Given the description of an element on the screen output the (x, y) to click on. 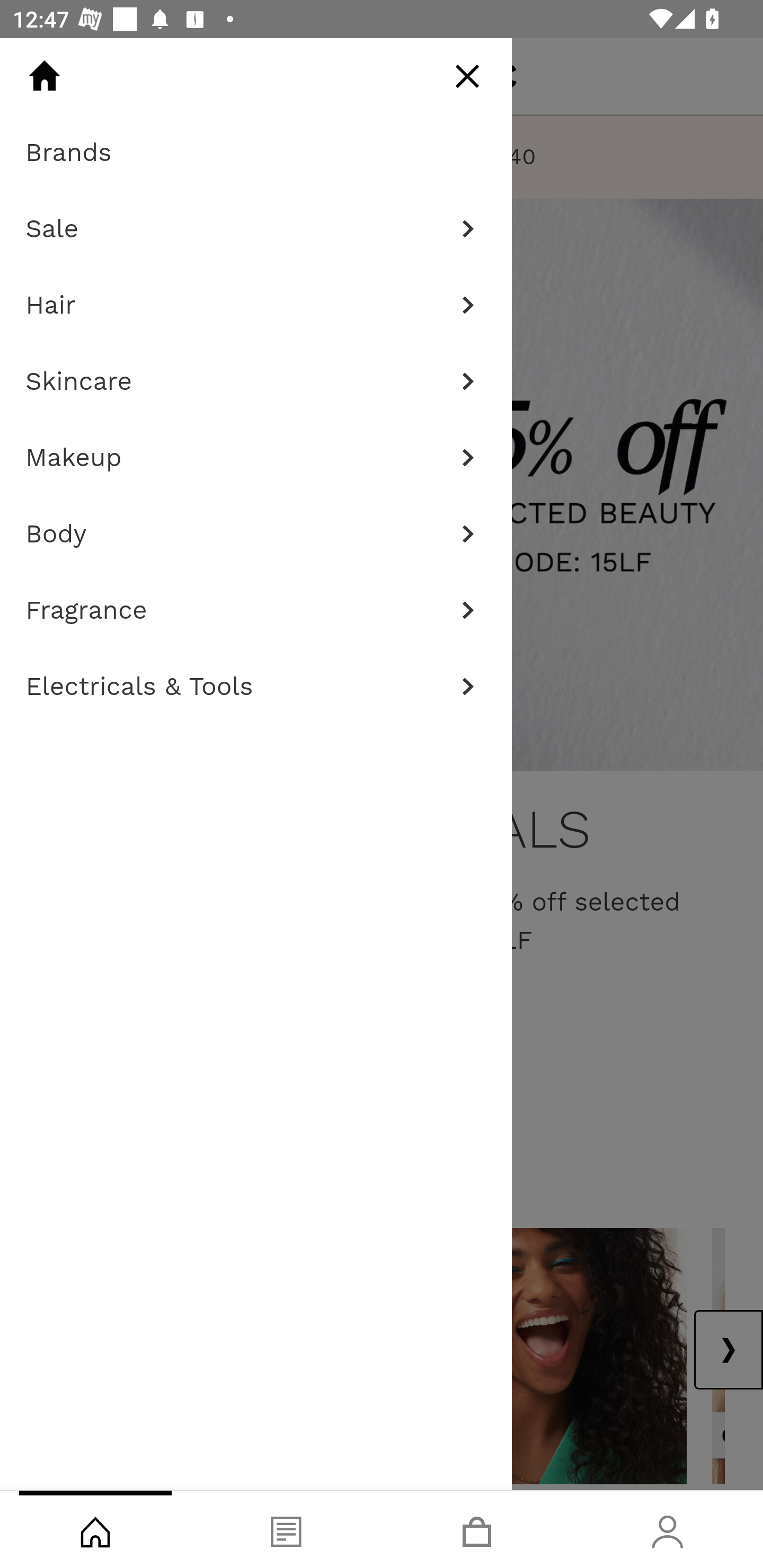
Home (44, 75)
Close Menu (467, 75)
Brands (255, 152)
Sale (255, 228)
Hair (255, 304)
Skincare (255, 381)
Makeup (255, 457)
Body (255, 533)
Fragrance (255, 610)
Electricals & Tools (255, 686)
Shop, tab, 1 of 4 (95, 1529)
Blog, tab, 2 of 4 (285, 1529)
Basket, tab, 3 of 4 (476, 1529)
Account, tab, 4 of 4 (667, 1529)
